Given the description of an element on the screen output the (x, y) to click on. 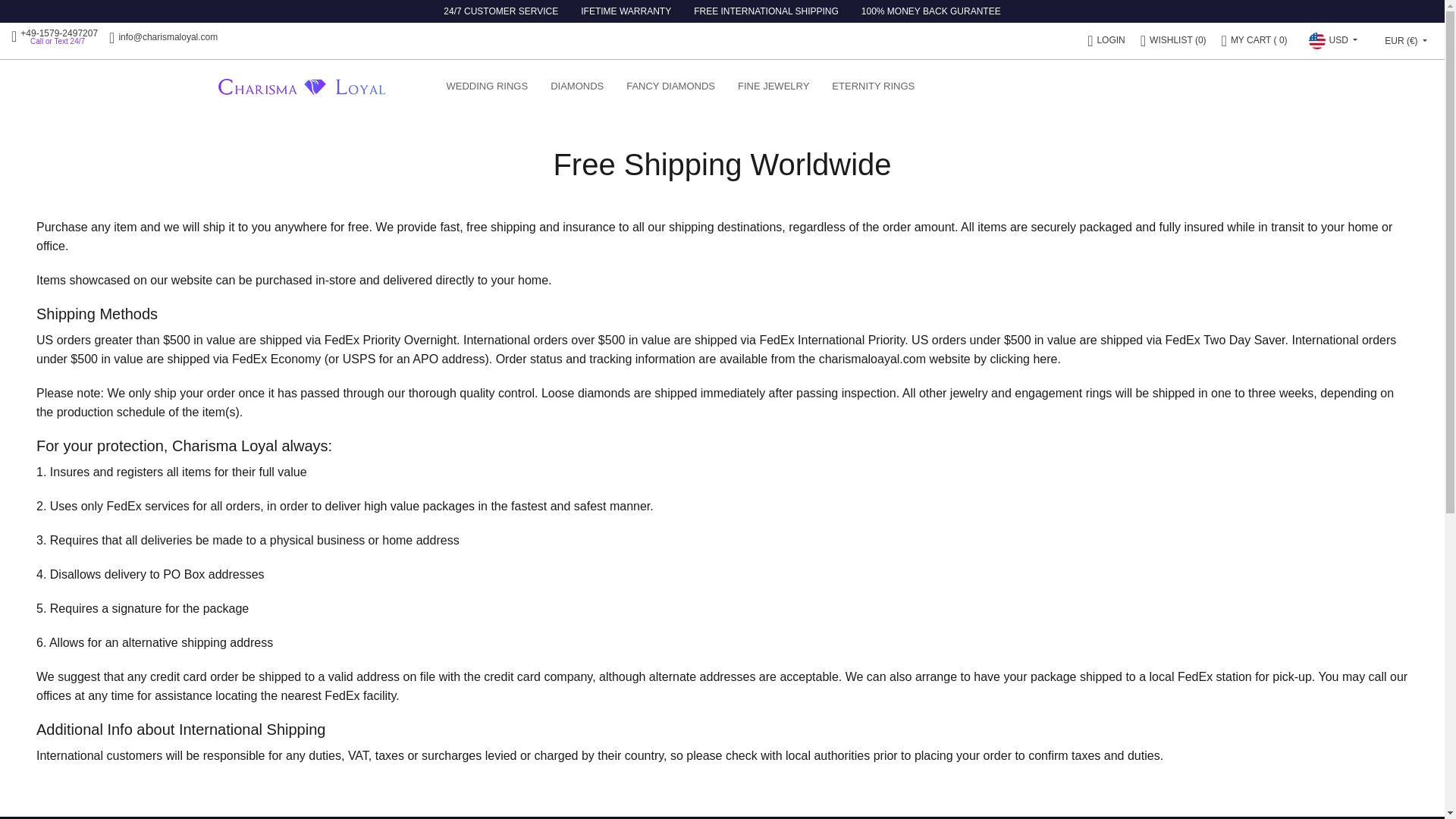
DIAMONDS (576, 86)
FINE JEWELRY (773, 86)
FANCY DIAMONDS (670, 86)
USD (1333, 40)
LOGIN (1106, 40)
ETERNITY RINGS (873, 86)
WEDDING RINGS (487, 86)
